Given the description of an element on the screen output the (x, y) to click on. 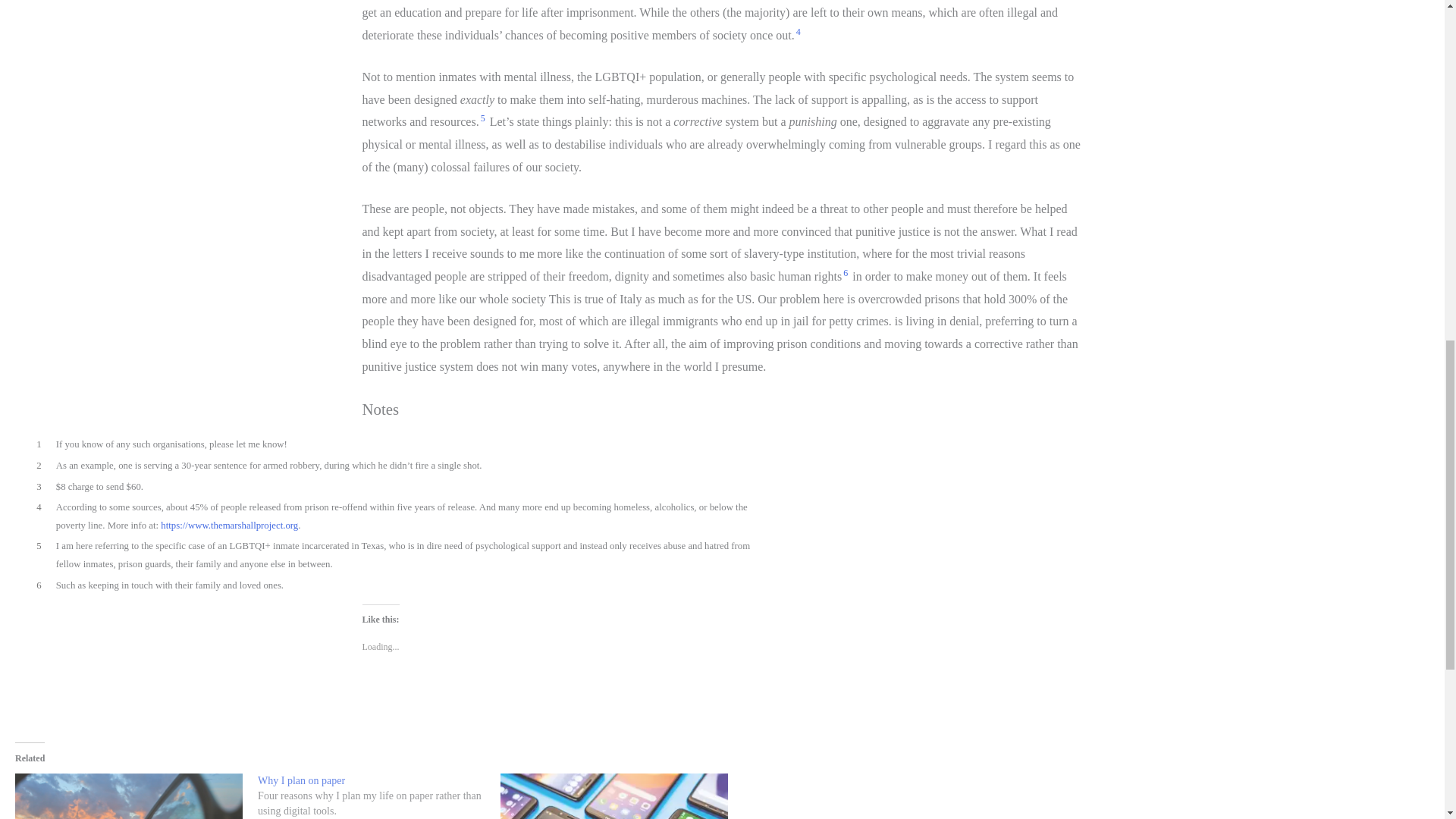
Uninventing smartphones (614, 796)
Like or Reblog (722, 697)
Why I plan on paper (301, 780)
Why I plan on paper (301, 780)
My wandering 2017 (128, 796)
Why I plan on paper (378, 796)
